Given the description of an element on the screen output the (x, y) to click on. 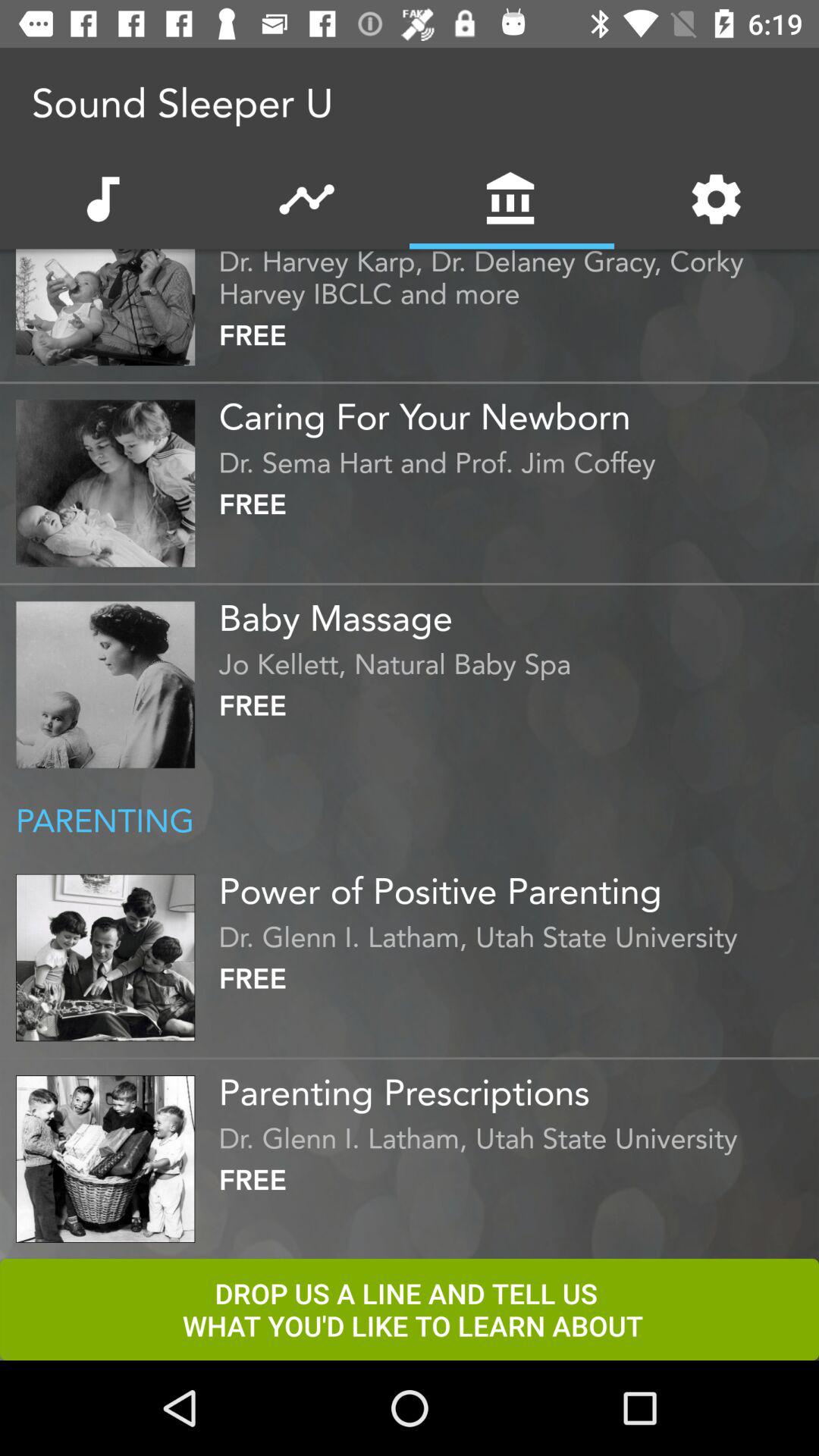
launch the icon below the free item (515, 612)
